Given the description of an element on the screen output the (x, y) to click on. 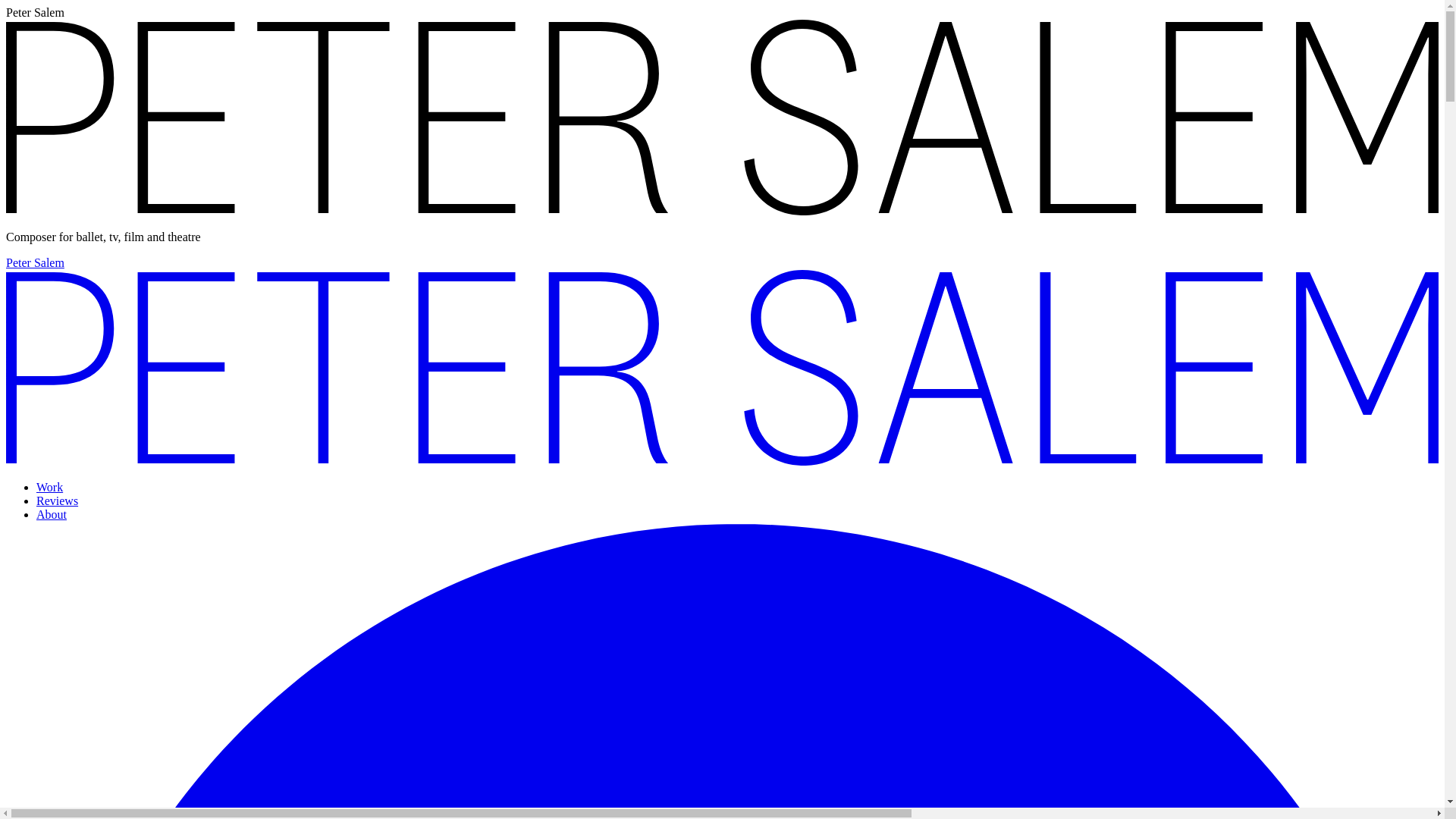
Reviews (57, 500)
About (51, 513)
Work (49, 486)
